Given the description of an element on the screen output the (x, y) to click on. 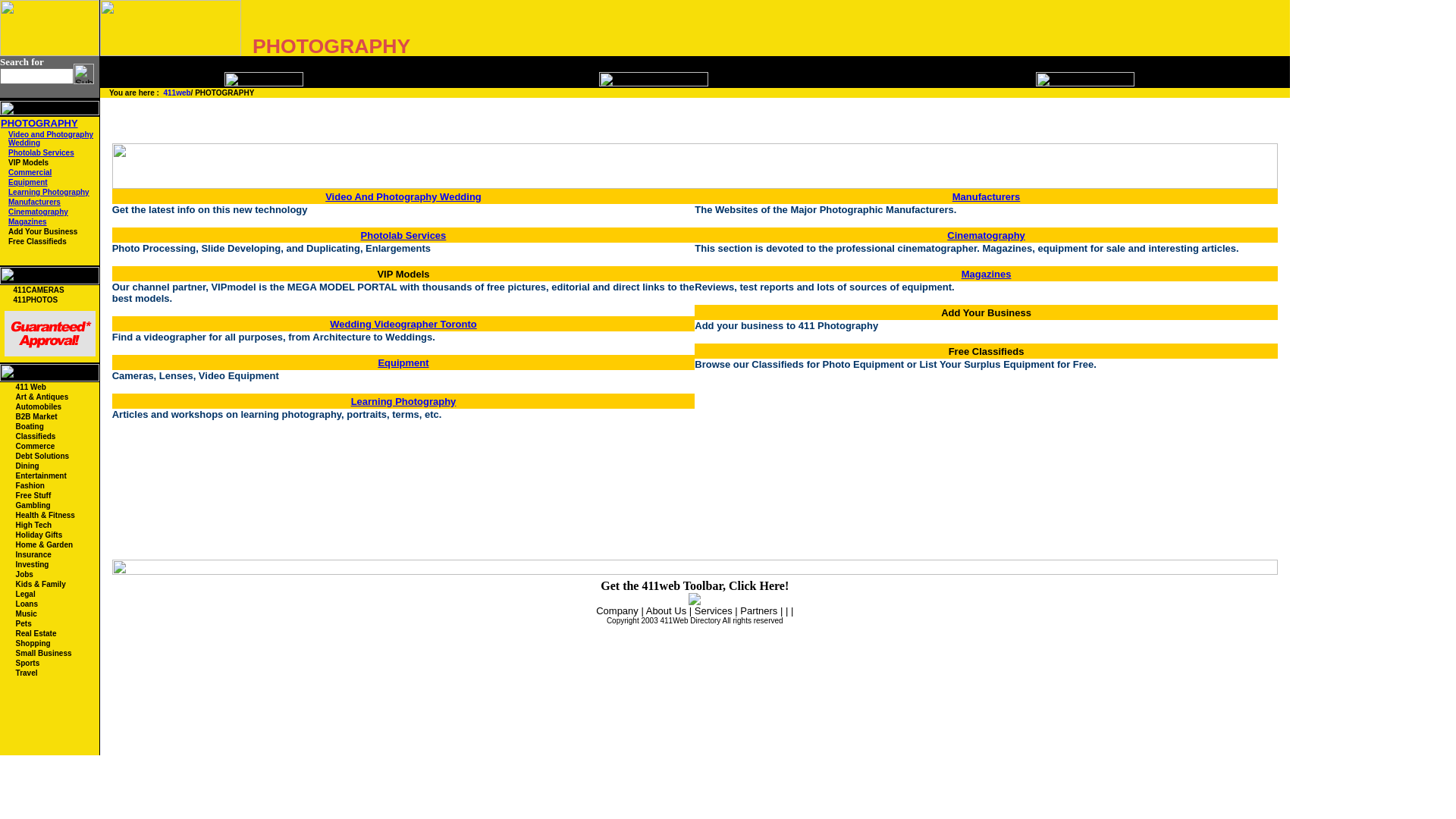
Cinematography Element type: text (986, 233)
Magazines Element type: text (27, 221)
Learning Photography Element type: text (48, 192)
Wedding Videographer Toronto Element type: text (402, 322)
Video And Photography Wedding Element type: text (403, 195)
Commercial Element type: text (29, 172)
Magazines Element type: text (986, 272)
Photolab Services Element type: text (41, 152)
Equipment Element type: text (27, 182)
Equipment Element type: text (402, 360)
Learning Photography Element type: text (403, 400)
Manufacturers Element type: text (34, 201)
Cinematography Element type: text (38, 211)
PHOTOGRAPHY Element type: text (39, 122)
Photolab Services Element type: text (403, 233)
Video and Photography Wedding Element type: text (50, 138)
Manufacturers Element type: text (986, 195)
